Given the description of an element on the screen output the (x, y) to click on. 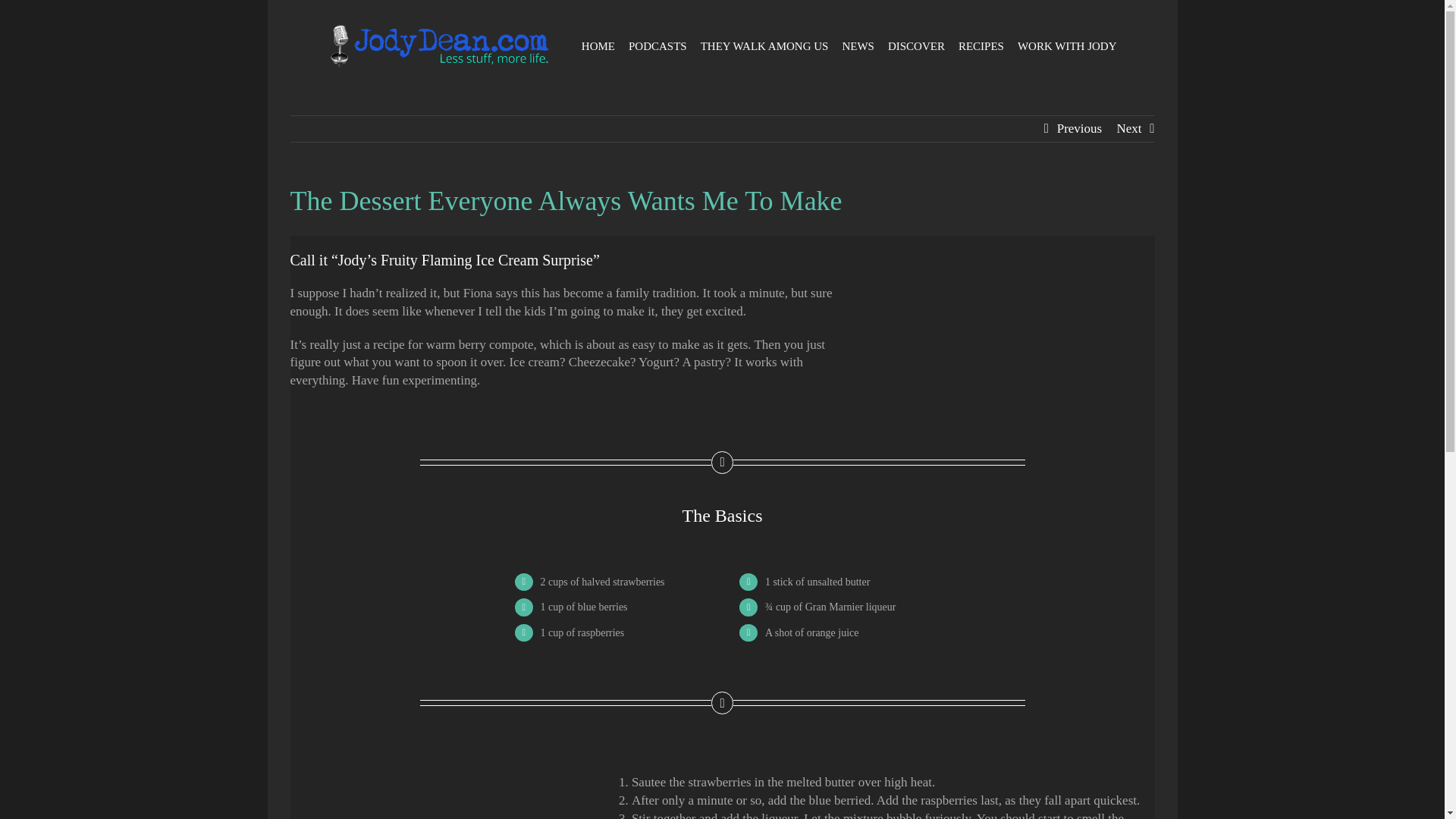
WORK WITH JODY (1066, 46)
Previous (1079, 128)
THEY WALK AMONG US (764, 46)
Next (1128, 128)
